Given the description of an element on the screen output the (x, y) to click on. 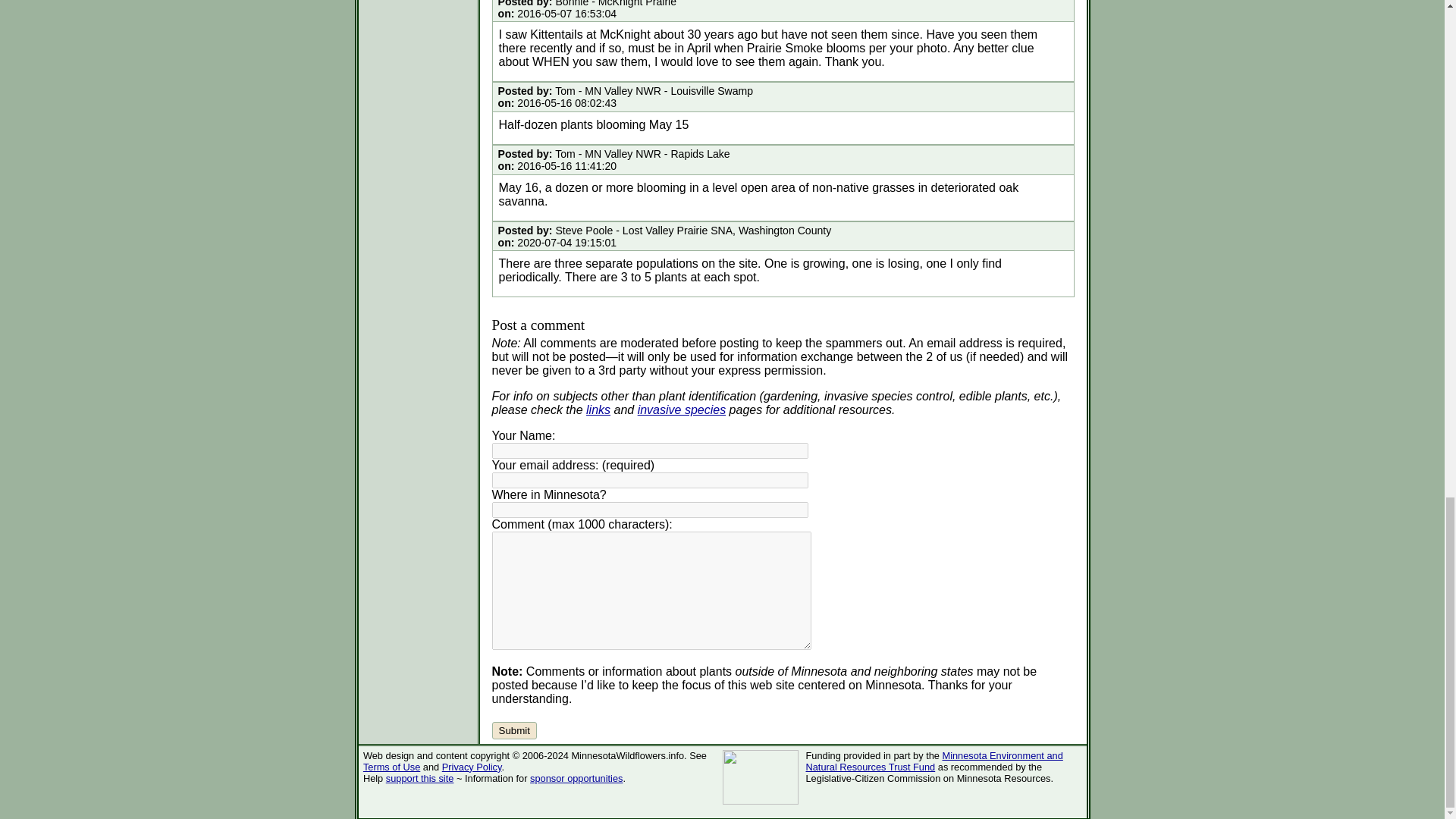
links (598, 409)
Submit (513, 730)
invasive species (681, 409)
Submit (513, 730)
